Given the description of an element on the screen output the (x, y) to click on. 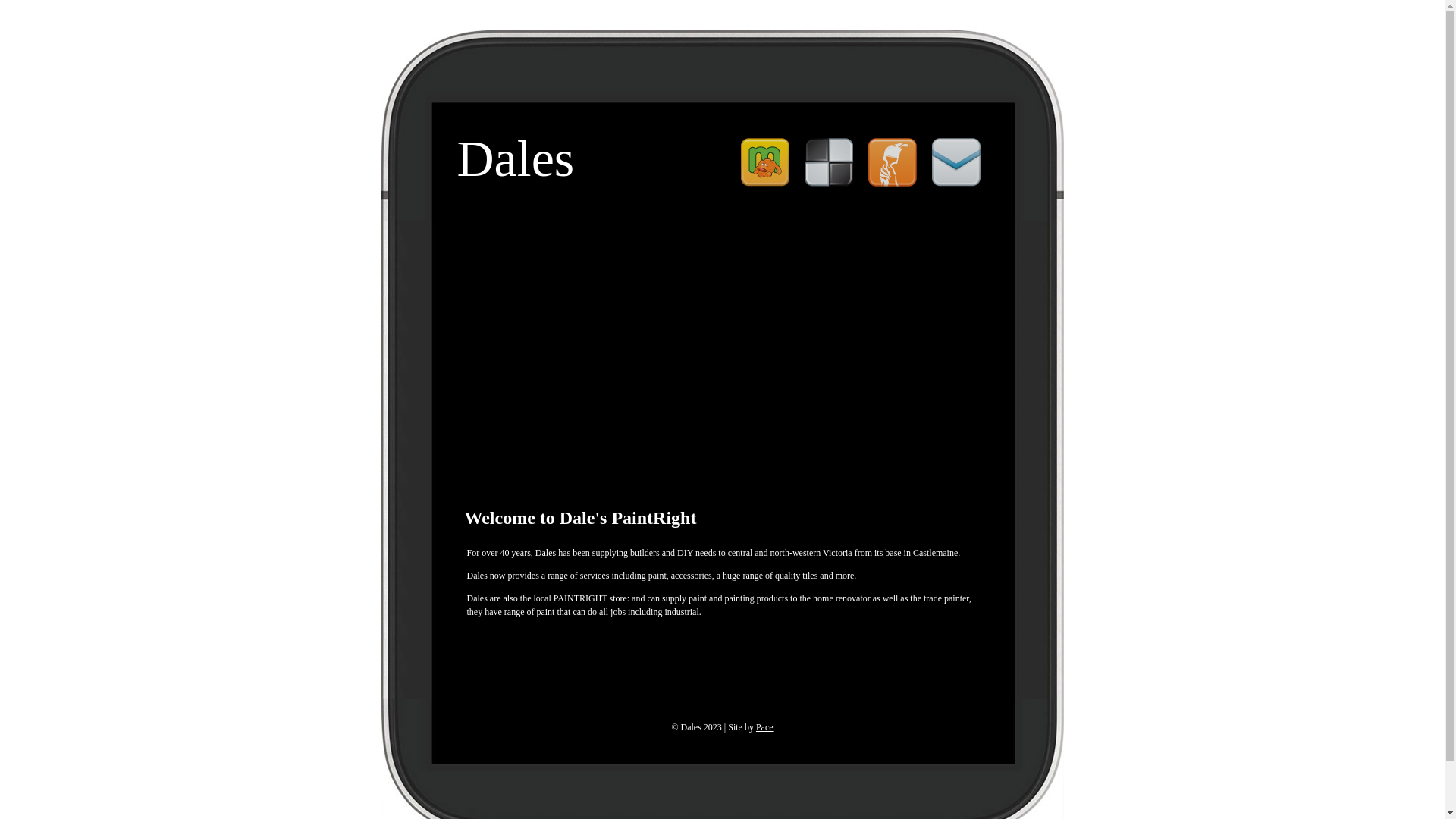
Pace Element type: text (764, 726)
Maine Pet Runs Element type: hover (764, 162)
Painting And Decorating Element type: hover (891, 162)
Contact Us Element type: hover (955, 162)
Ceramics Element type: hover (827, 162)
